Given the description of an element on the screen output the (x, y) to click on. 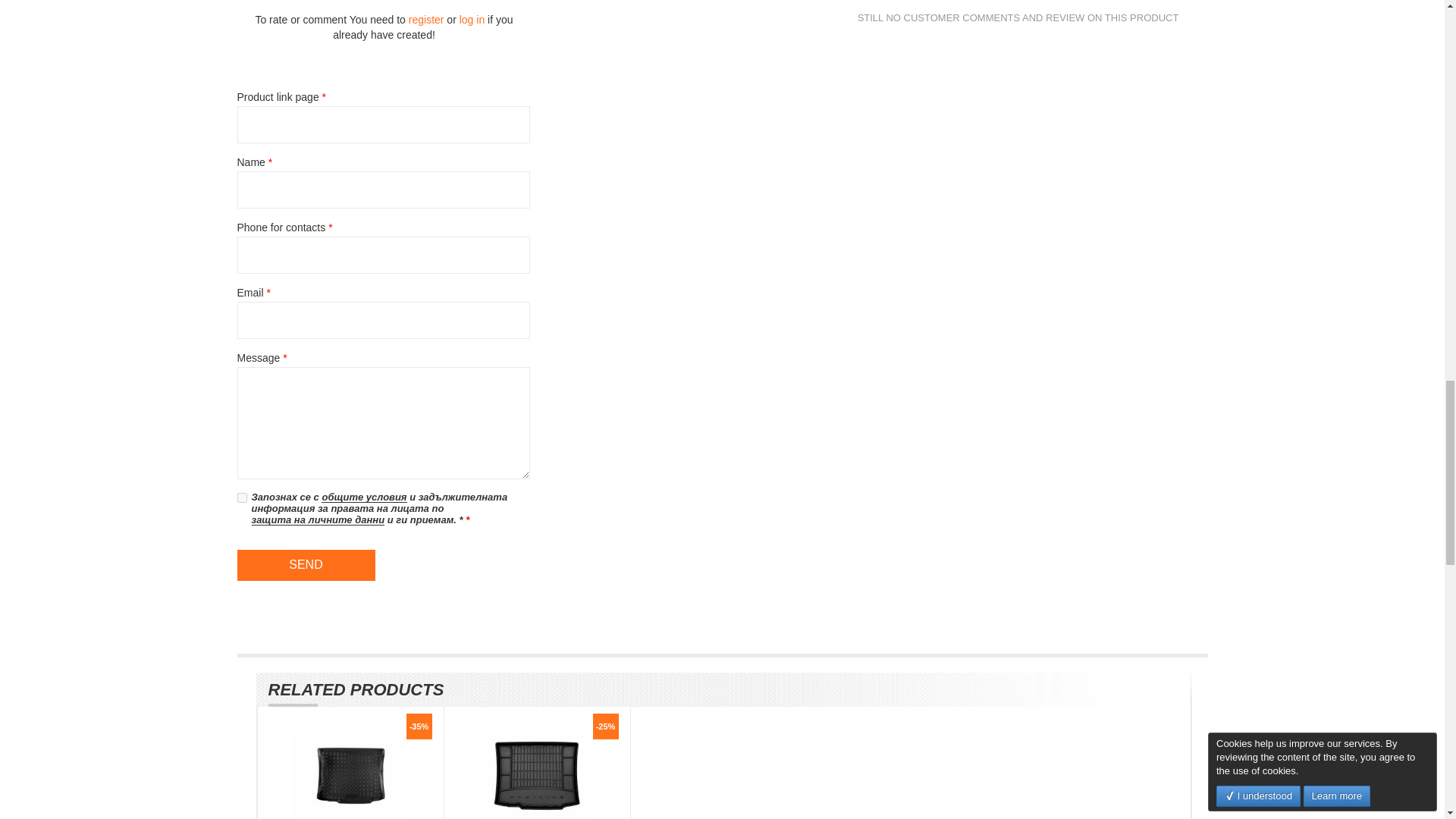
1 (240, 497)
